Given the description of an element on the screen output the (x, y) to click on. 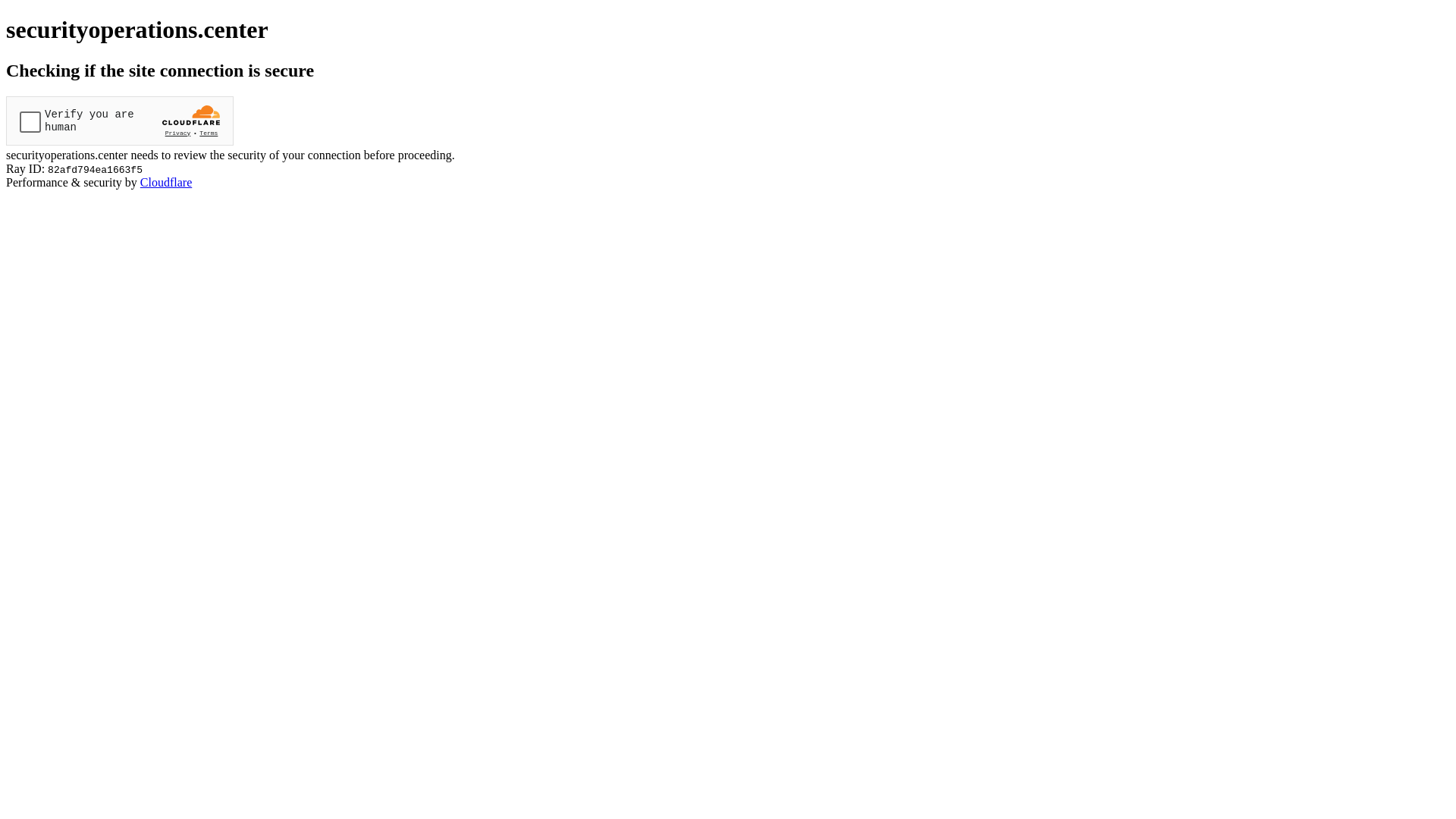
Widget containing a Cloudflare security challenge Element type: hover (119, 120)
Cloudflare Element type: text (165, 181)
